Given the description of an element on the screen output the (x, y) to click on. 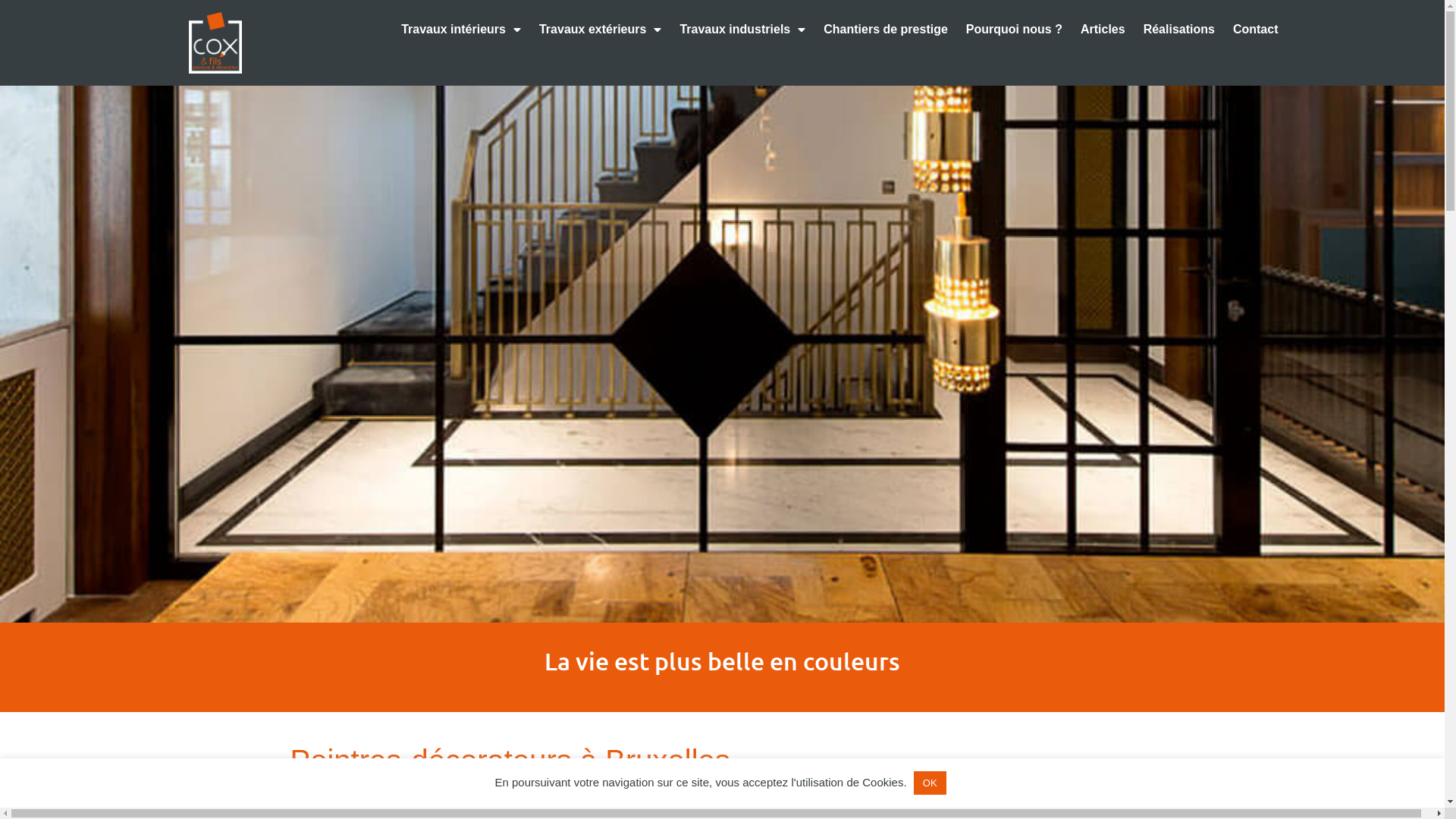
OK Element type: text (929, 782)
Articles Element type: text (1102, 29)
Contact Element type: text (1255, 29)
Chantiers de prestige Element type: text (885, 29)
Travaux industriels Element type: text (742, 29)
Pourquoi nous ? Element type: text (1014, 29)
